Given the description of an element on the screen output the (x, y) to click on. 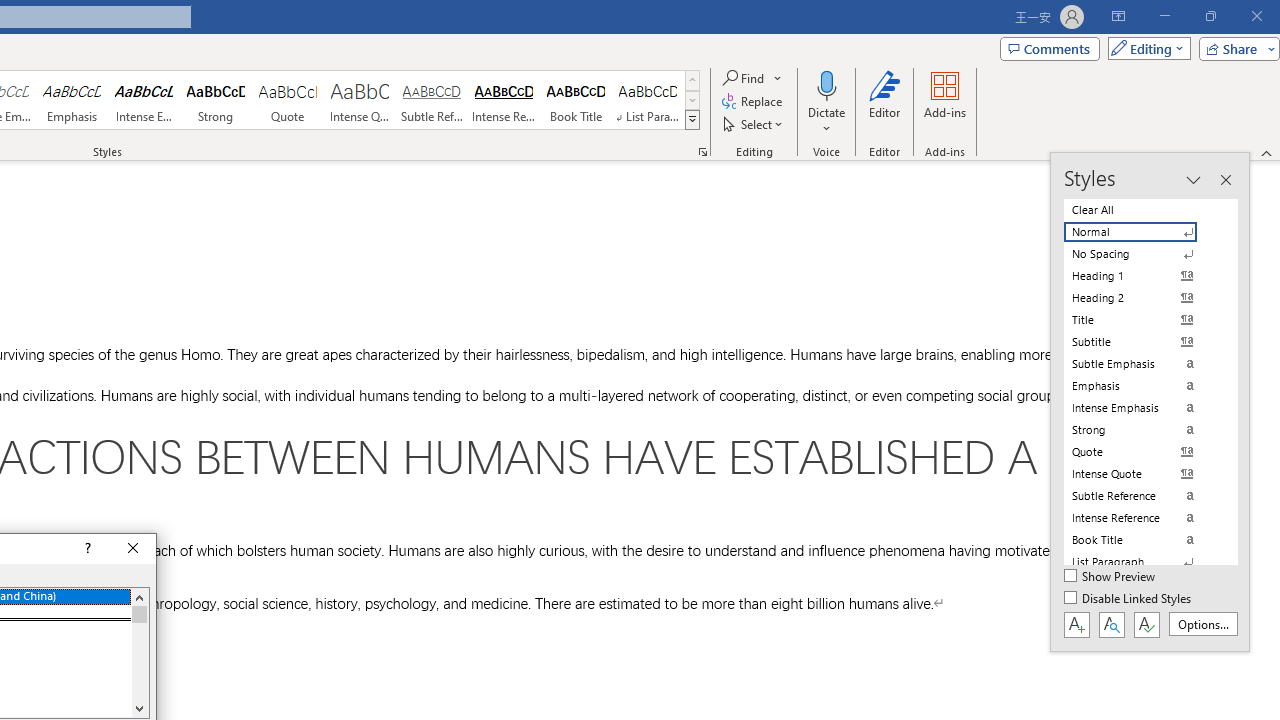
AutomationID: 21 (139, 652)
Intense Reference (504, 100)
Normal (1142, 232)
Page down (139, 660)
Disable Linked Styles (1129, 599)
